Given the description of an element on the screen output the (x, y) to click on. 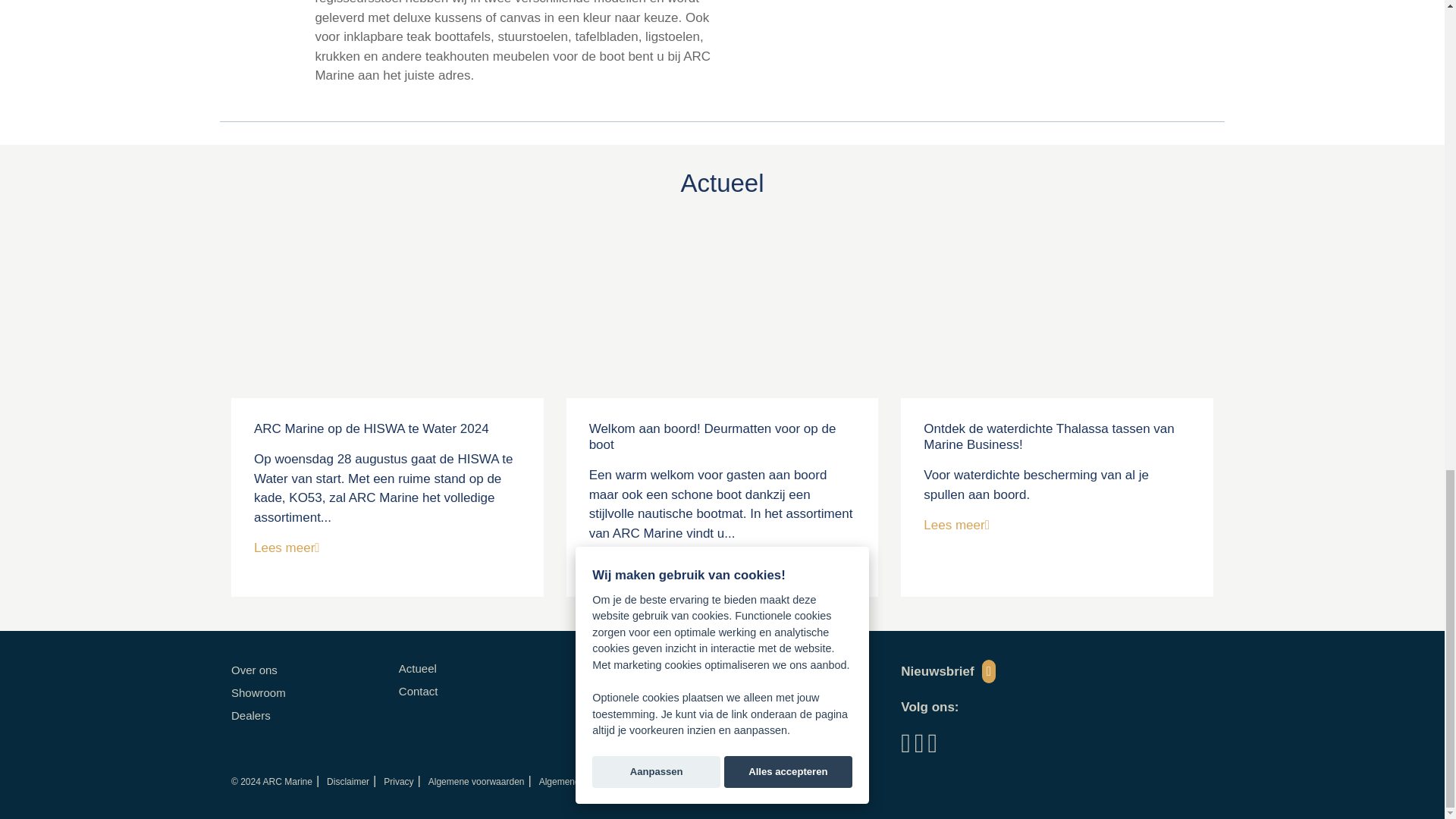
Home (272, 781)
